Given the description of an element on the screen output the (x, y) to click on. 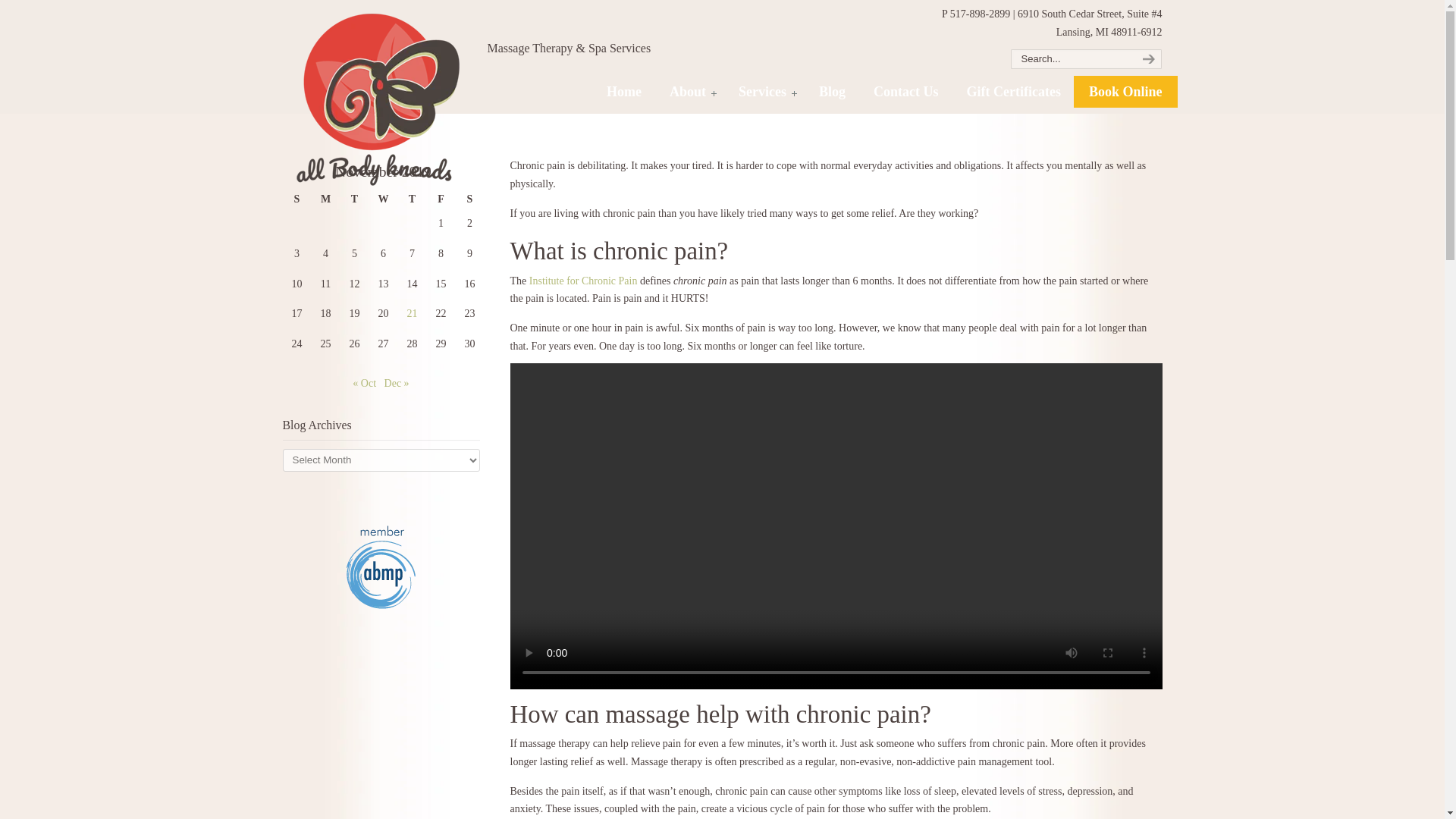
21 (411, 313)
About (689, 91)
Search... (1070, 58)
Services (764, 91)
Sunday (296, 199)
Home (623, 91)
Friday (440, 199)
Institute for Chronic Pain (583, 280)
Tuesday (353, 199)
Blog (831, 91)
All Body Kneads (376, 99)
search (1146, 58)
Wednesday (382, 199)
Saturday (468, 199)
Thursday (411, 199)
